Given the description of an element on the screen output the (x, y) to click on. 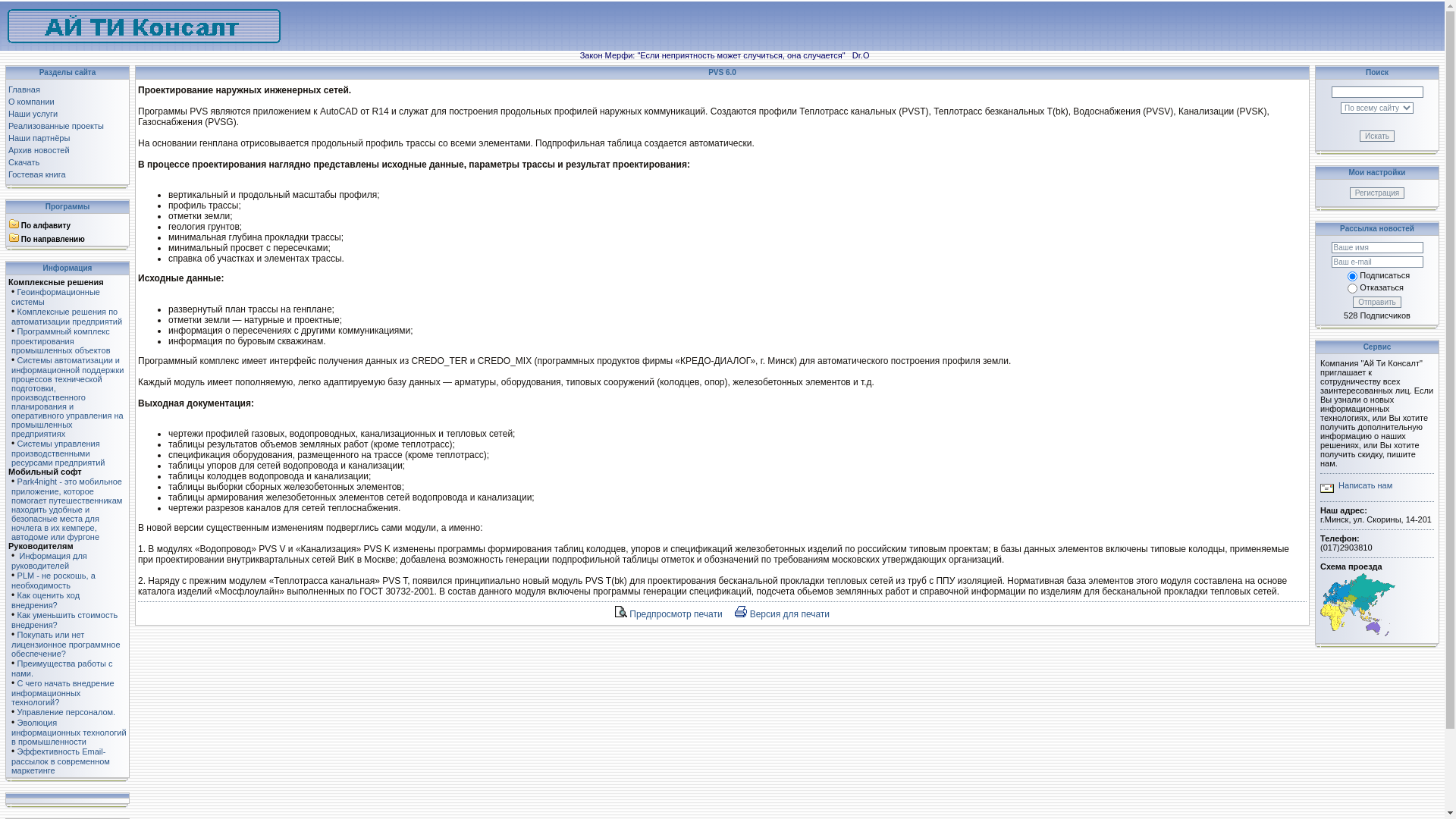
+ Element type: hover (13, 222)
IT-Consult Element type: hover (143, 39)
+ Element type: hover (13, 235)
